Given the description of an element on the screen output the (x, y) to click on. 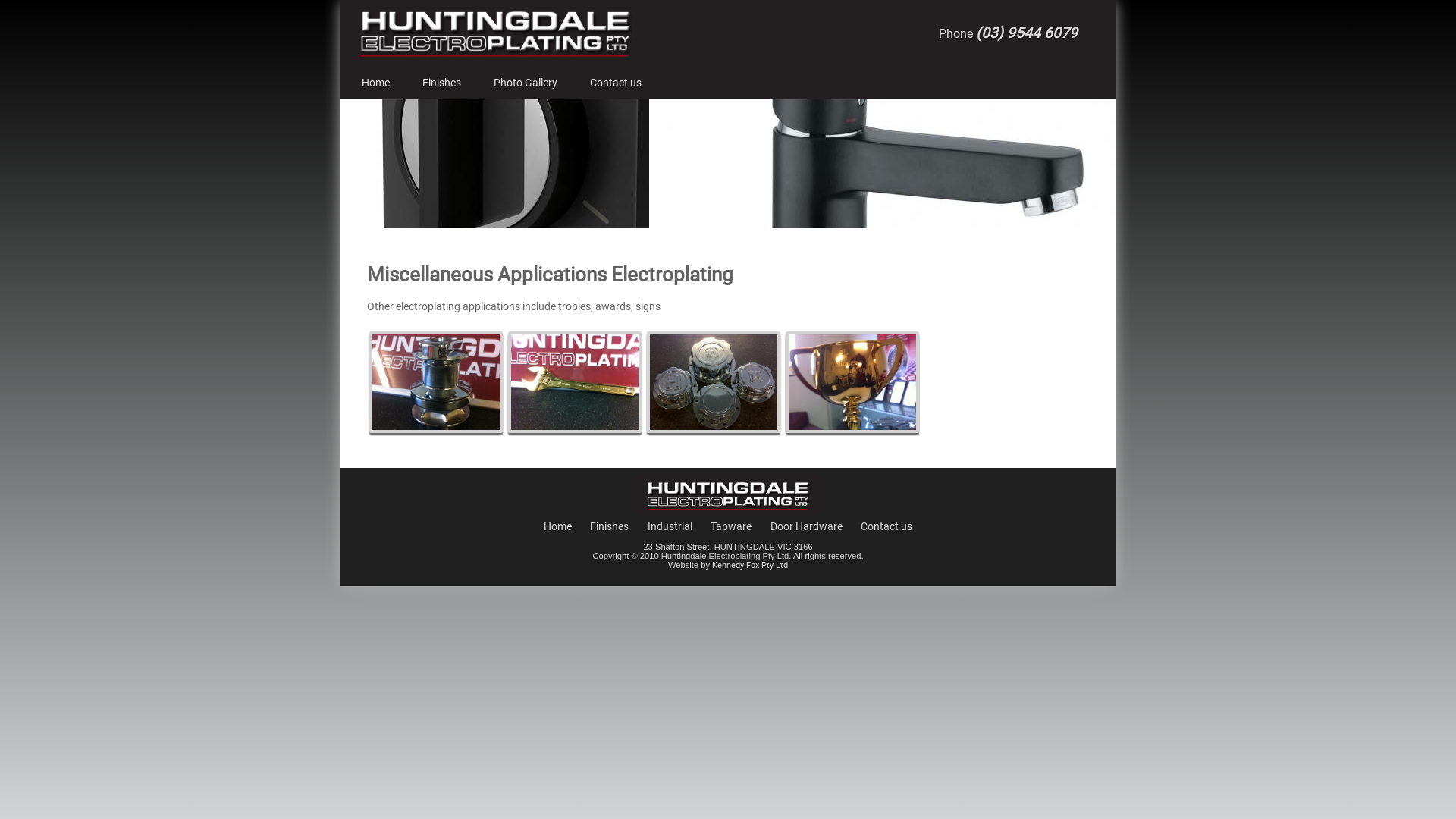
Industrial Element type: text (669, 526)
Kennedy Fox Pty Ltd Element type: text (749, 565)
Home Element type: text (375, 82)
Tapware Element type: text (730, 526)
Photo Gallery Element type: text (525, 82)
Truck hub caps Element type: hover (713, 428)
Truck hub caps Element type: hover (713, 382)
Door Hardware Element type: text (806, 526)
Home Element type: text (557, 526)
Finishes Element type: text (608, 526)
Finishes Element type: text (441, 82)
(03) 9544 6079 Element type: text (1026, 32)
Melbourne Cup 2013 Element type: hover (852, 382)
Gold plating shifting spanner Element type: hover (574, 382)
Melbourne Cup 2013 Element type: hover (852, 428)
Boat winch chrome plated Element type: hover (435, 382)
Boat winch chrome plated Element type: hover (435, 428)
Contact us Element type: text (886, 526)
Contact us Element type: text (615, 82)
Gold plating shifting spanner Element type: hover (574, 428)
